Given the description of an element on the screen output the (x, y) to click on. 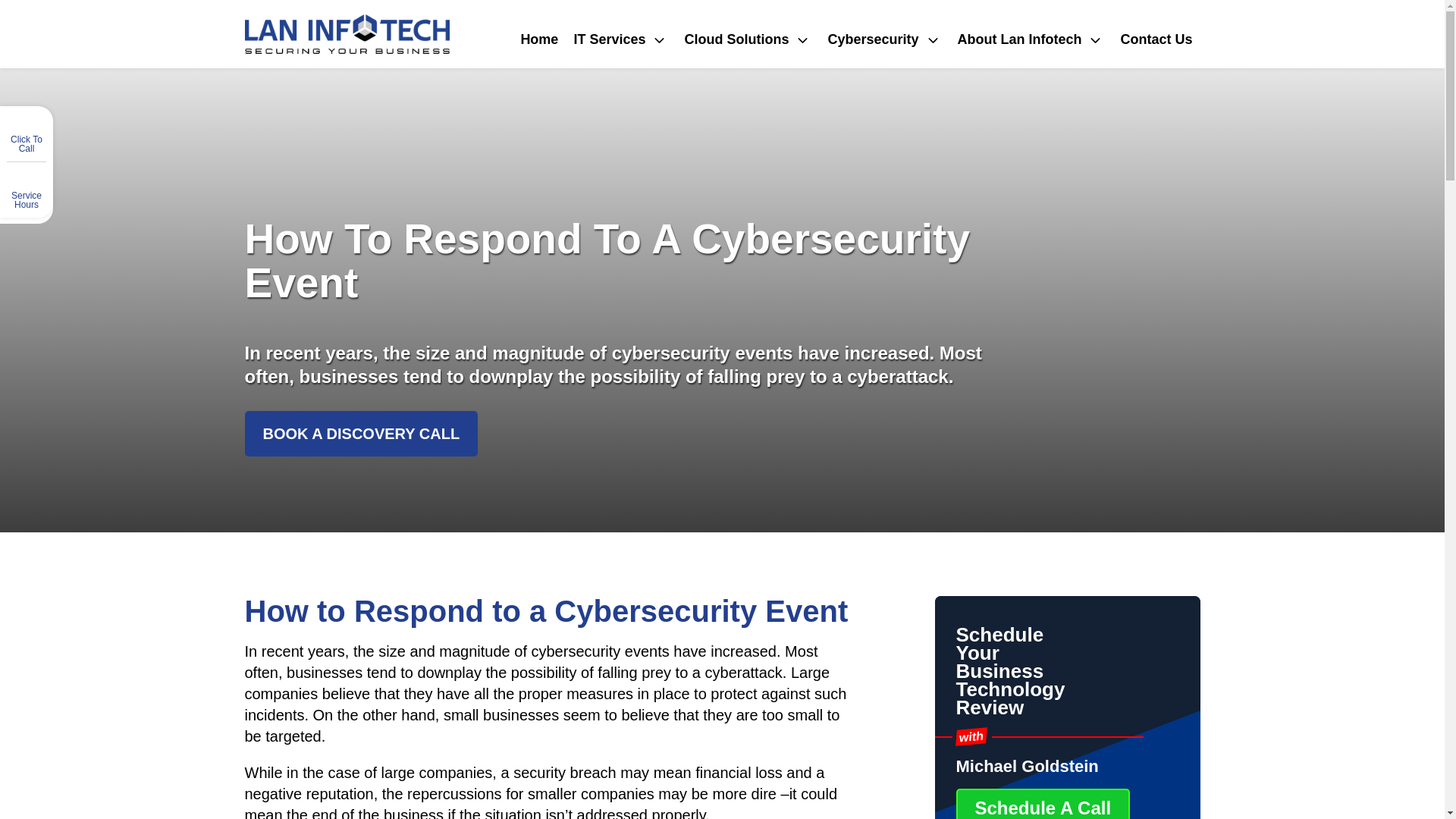
About Lan Infotech (1030, 39)
IT Services (621, 39)
Click To Call (26, 147)
Cybersecurity (884, 39)
Home (539, 39)
Cloud Solutions (748, 39)
